Given the description of an element on the screen output the (x, y) to click on. 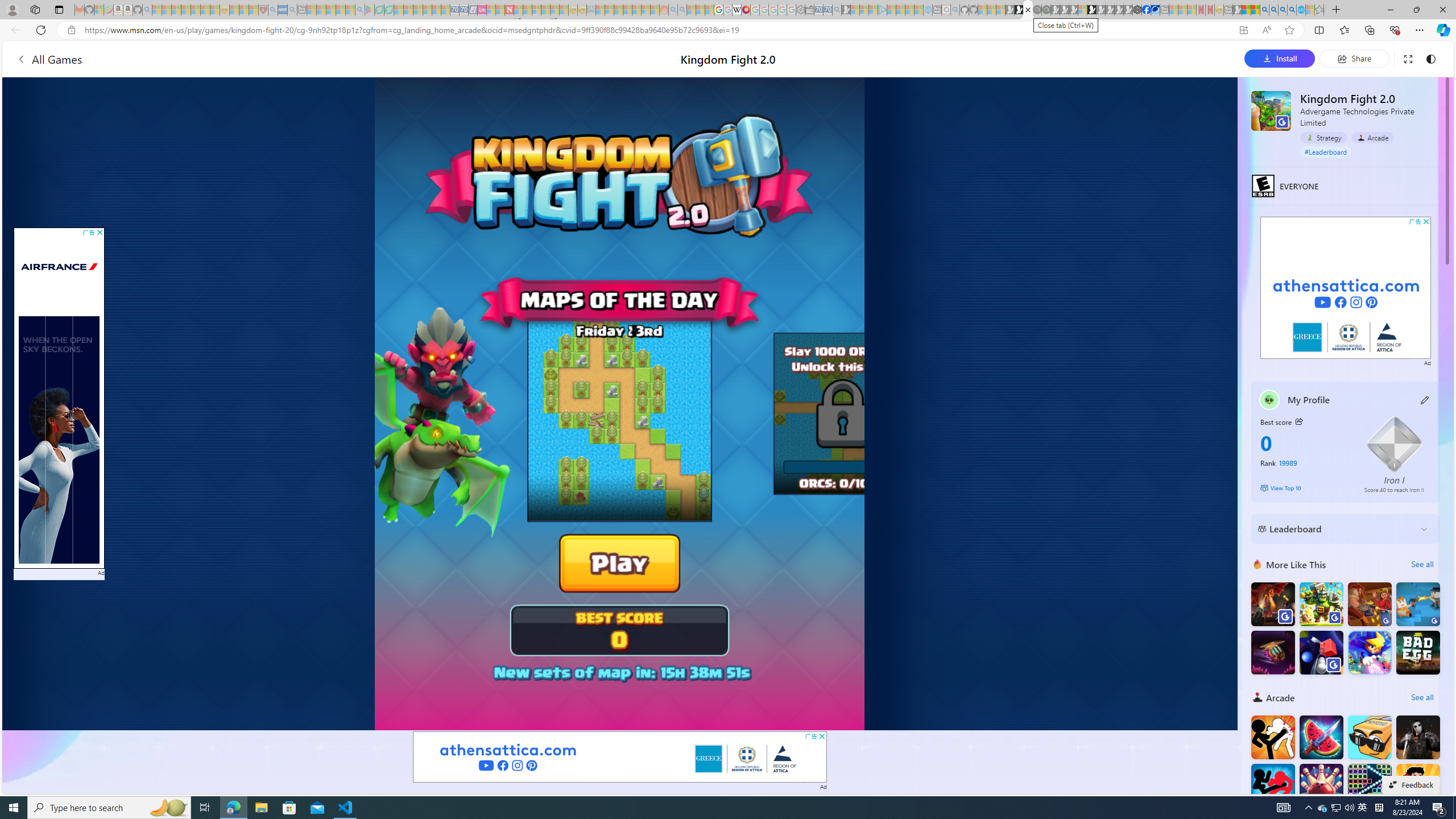
Arcade (1372, 137)
Stickman fighter : Epic battle (1273, 785)
Microsoft Start Gaming - Sleeping (846, 9)
See all (1422, 696)
App available. Install Kingdom Fight 2.0 (1243, 29)
Sign in to your account - Sleeping (1082, 9)
